Given the description of an element on the screen output the (x, y) to click on. 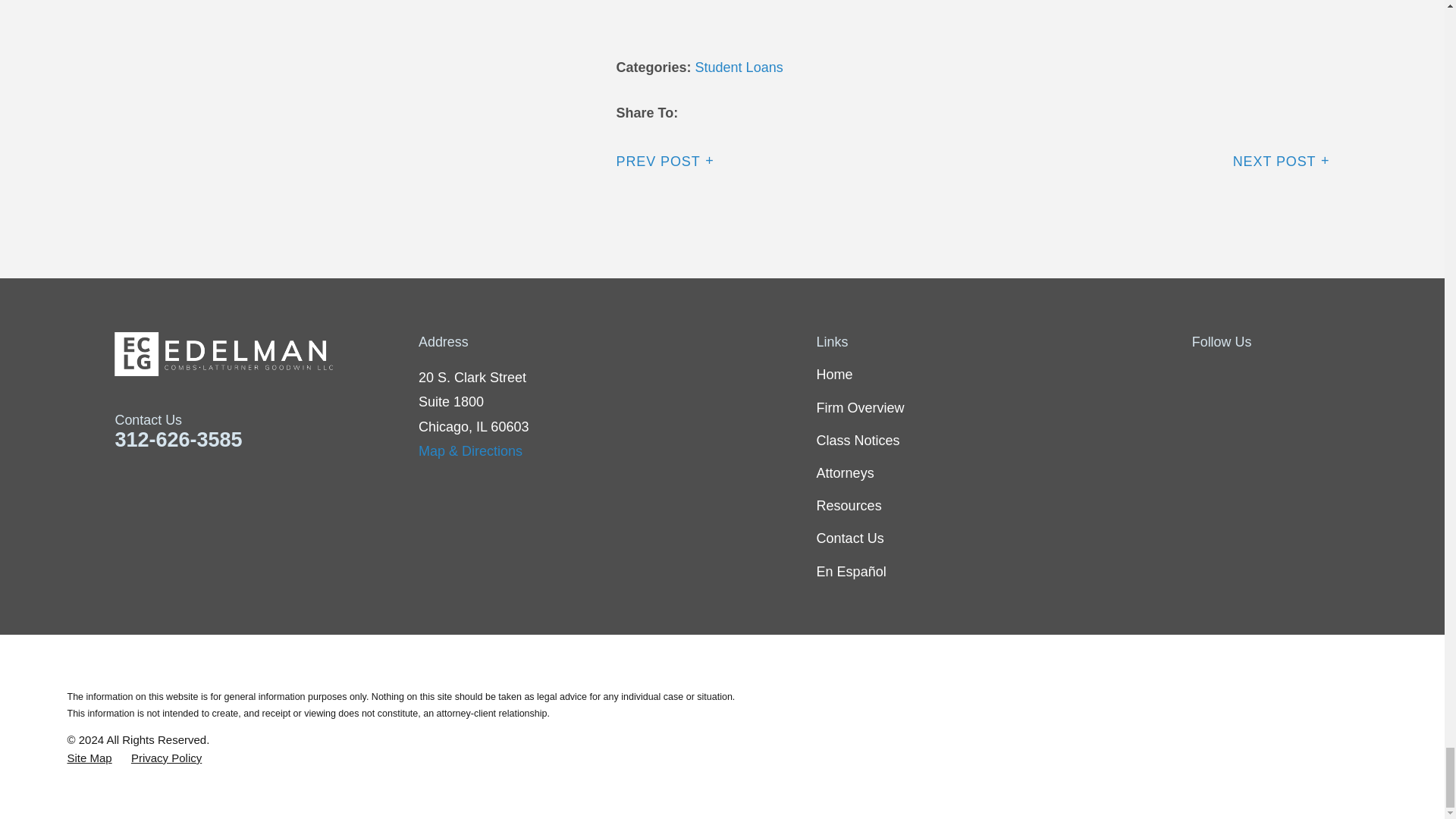
Google Business Profile (1319, 374)
Yelp (1280, 374)
Home (267, 353)
Twitter (1240, 374)
Facebook (1201, 374)
